Given the description of an element on the screen output the (x, y) to click on. 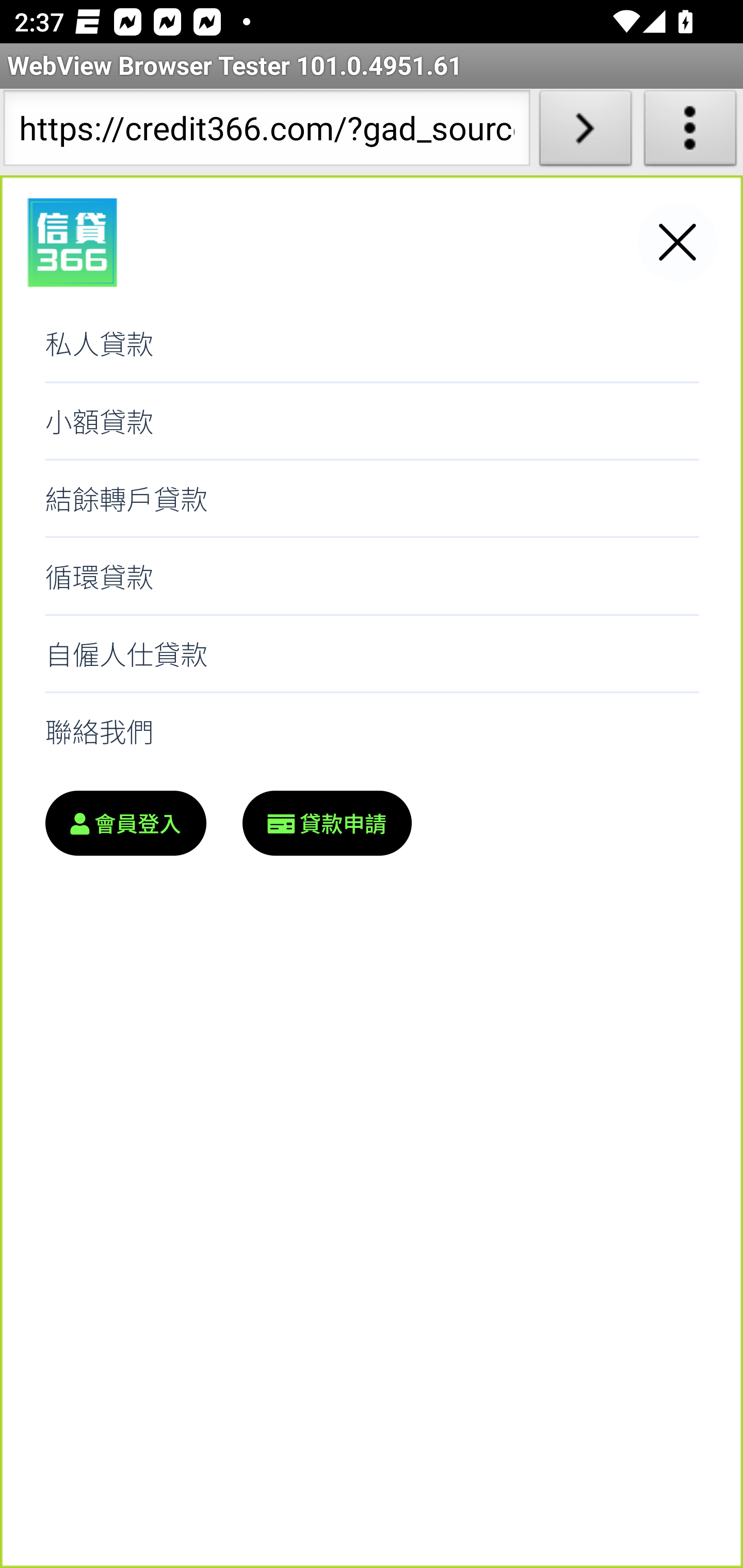
Load URL (585, 132)
About WebView (690, 132)
logo (71, 242)
私人貸款 (371, 343)
小額貸款 (371, 420)
結餘轉戶貸款 (371, 498)
循環貸款 (371, 576)
自僱人仕貸款 (371, 653)
聯絡我們 (371, 731)
 會員登入   會員登入 (125, 822)
 貸款申請   貸款申請 (327, 822)
